Given the description of an element on the screen output the (x, y) to click on. 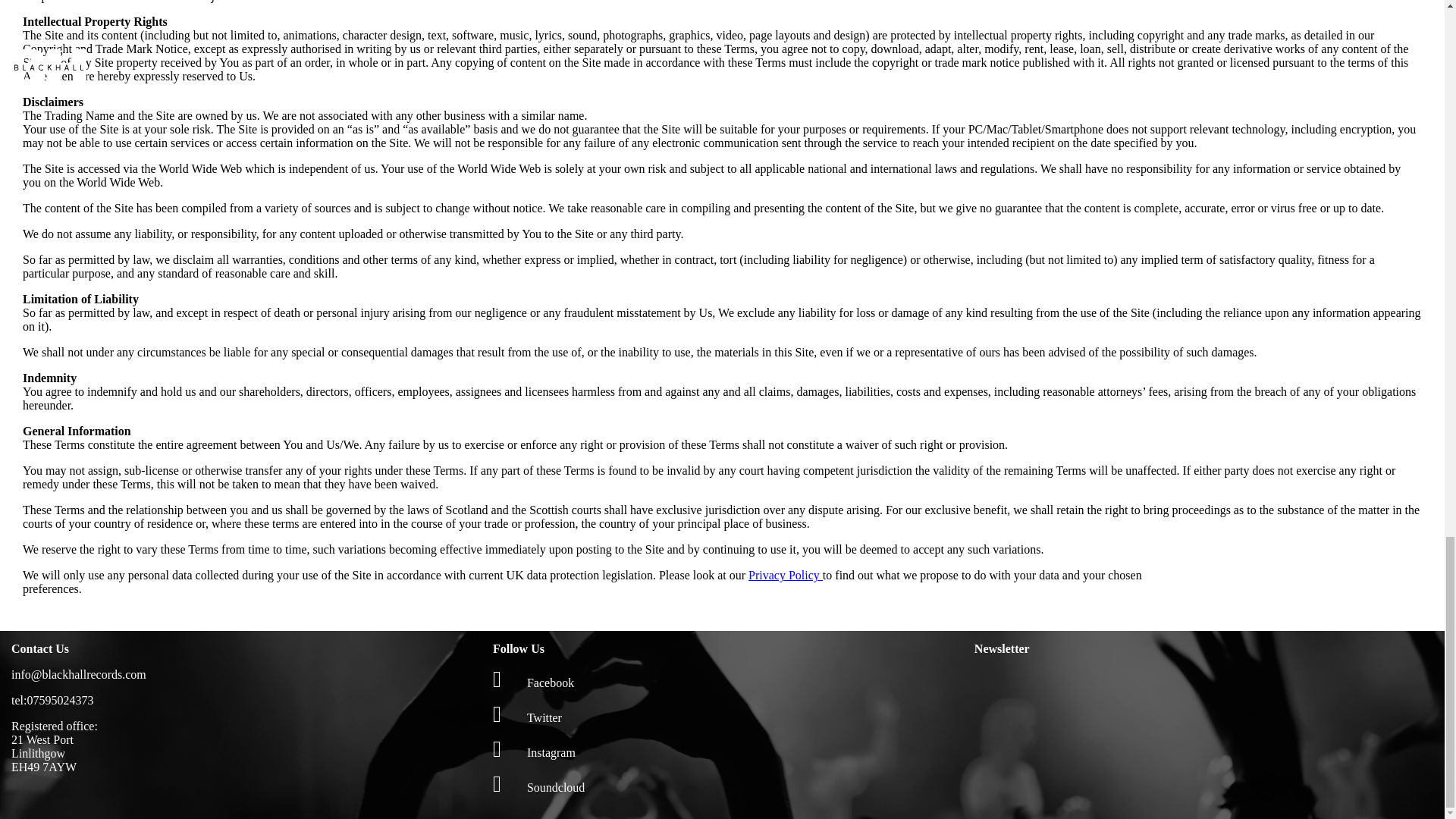
Soundcloud (539, 787)
Privacy Policy (785, 574)
Twitter (527, 717)
Facebook (533, 682)
Instagram (534, 752)
tel:07595024373 (52, 699)
